Given the description of an element on the screen output the (x, y) to click on. 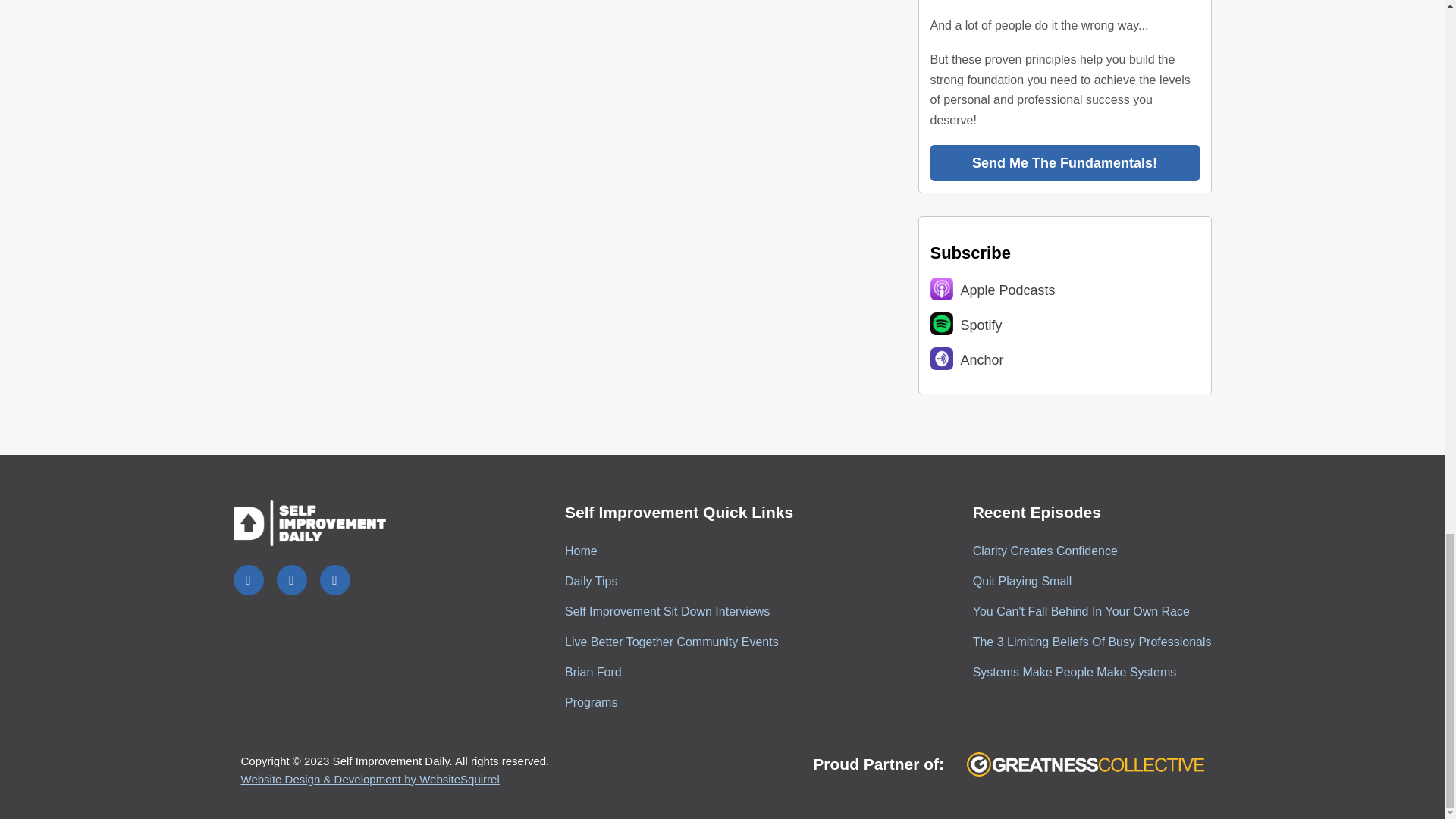
Spotify (1064, 325)
Send Me The Fundamentals! (1064, 162)
Anchor (1064, 360)
Apple Podcasts (1064, 290)
